Given the description of an element on the screen output the (x, y) to click on. 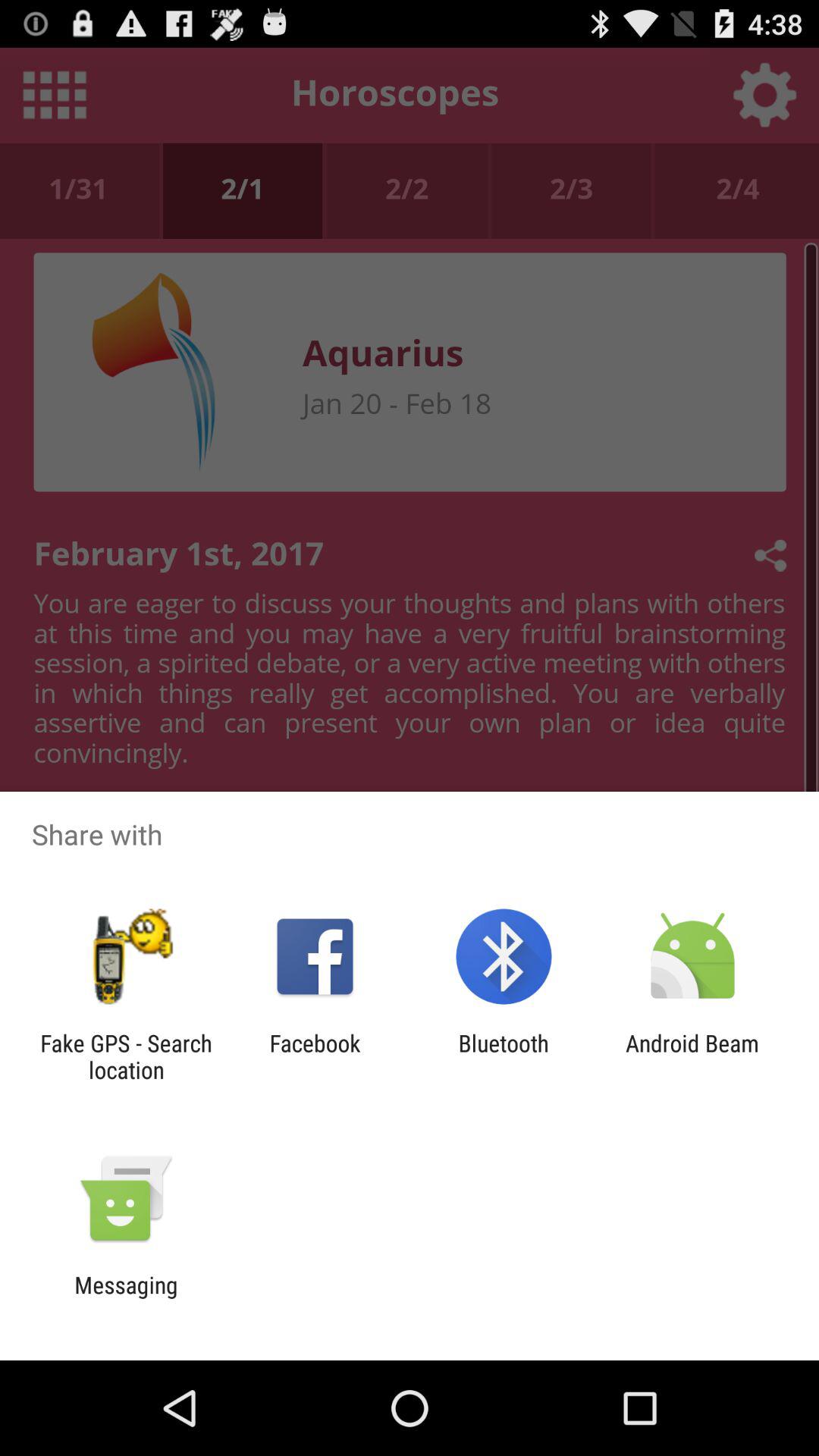
choose facebook icon (314, 1056)
